Given the description of an element on the screen output the (x, y) to click on. 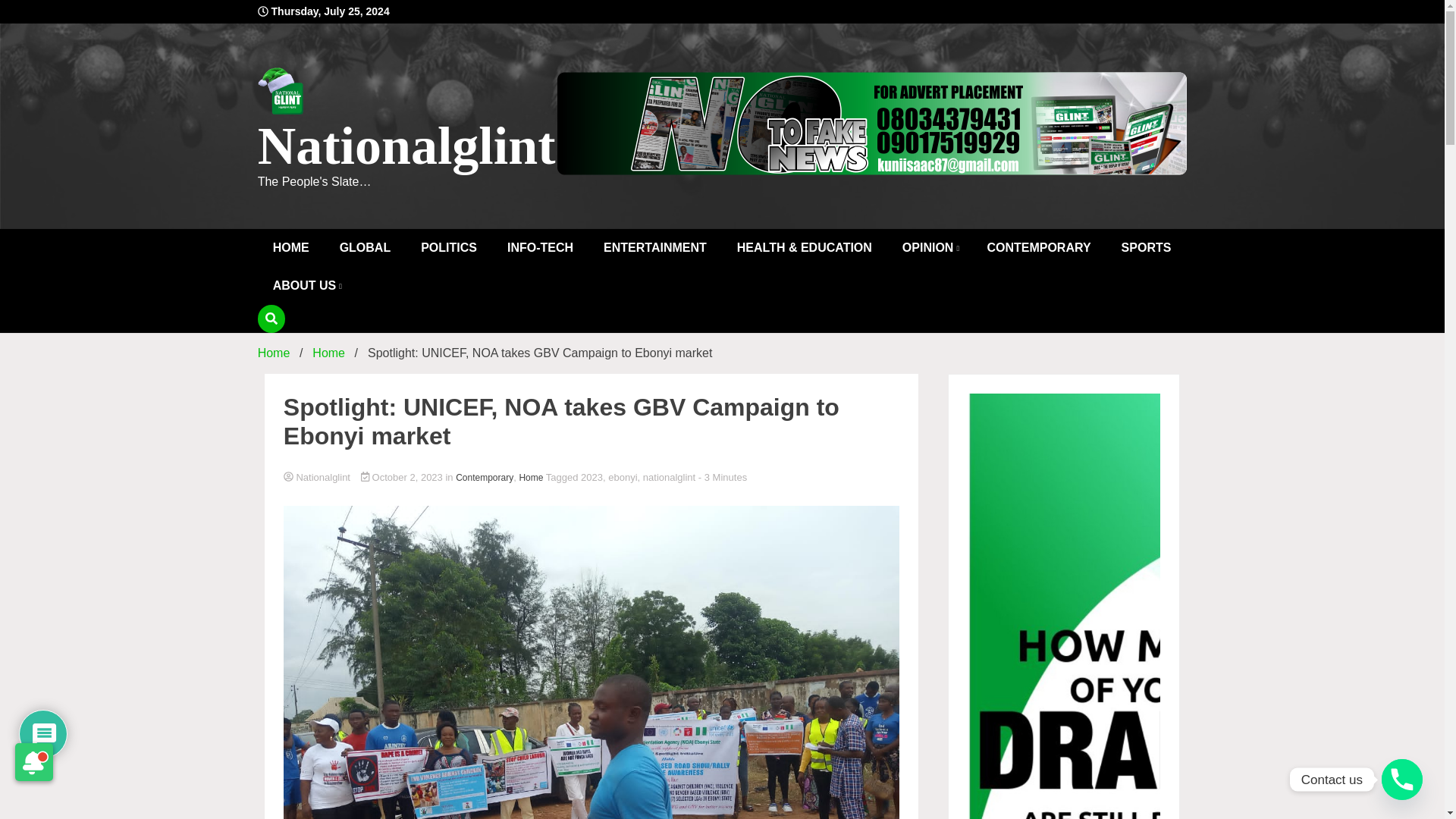
Nationalglint (406, 146)
2023 (591, 477)
Home (329, 352)
ENTERTAINMENT (655, 247)
OPINION (929, 247)
Home (530, 477)
Contemporary (484, 477)
ABOUT US (306, 285)
SPORTS (1146, 247)
CONTEMPORARY (1038, 247)
Nationalglint (591, 477)
GLOBAL (365, 247)
Home (273, 352)
nationalglint (669, 477)
ebonyi (622, 477)
